Given the description of an element on the screen output the (x, y) to click on. 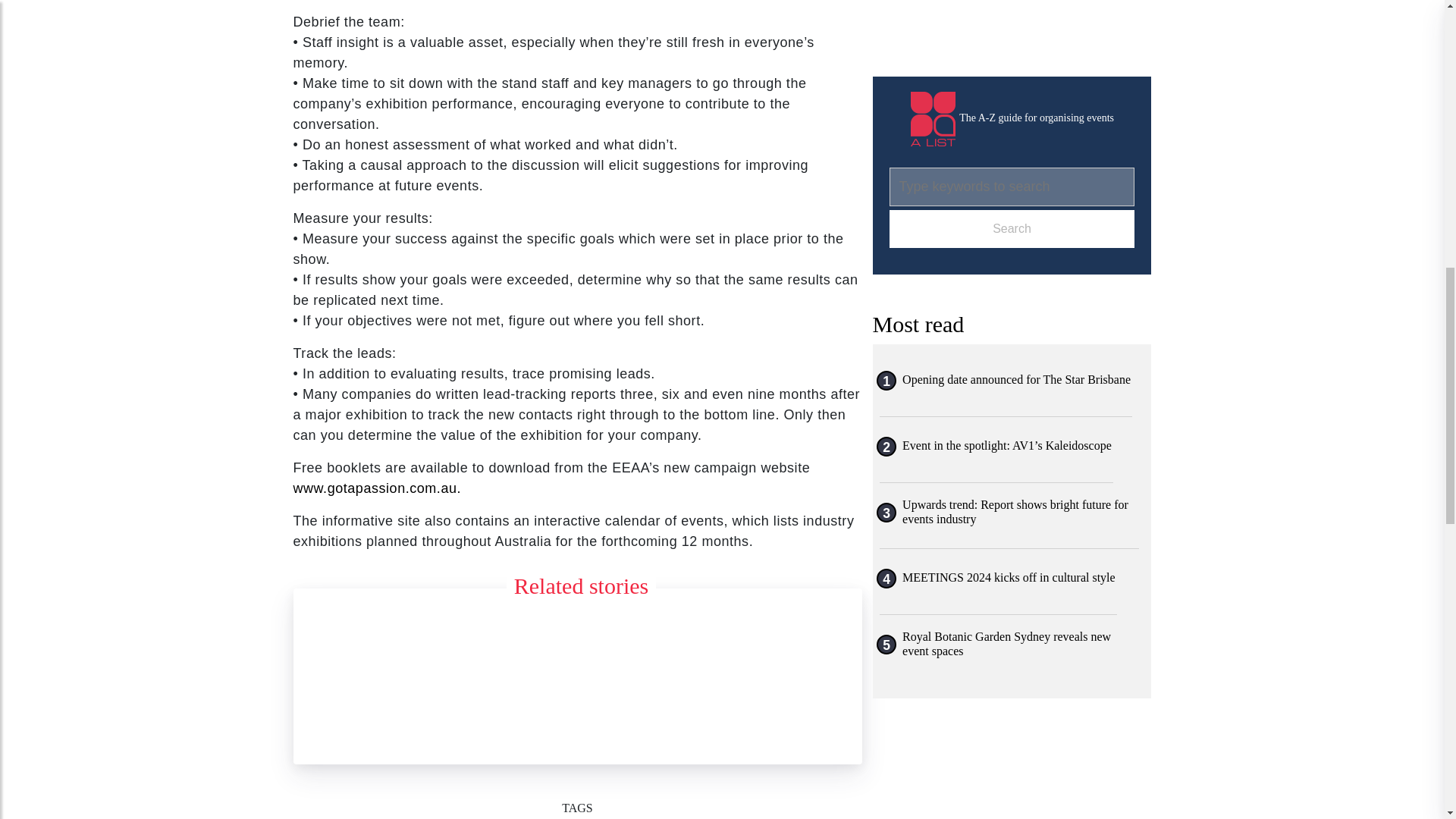
Form 0 (1011, 20)
